Given the description of an element on the screen output the (x, y) to click on. 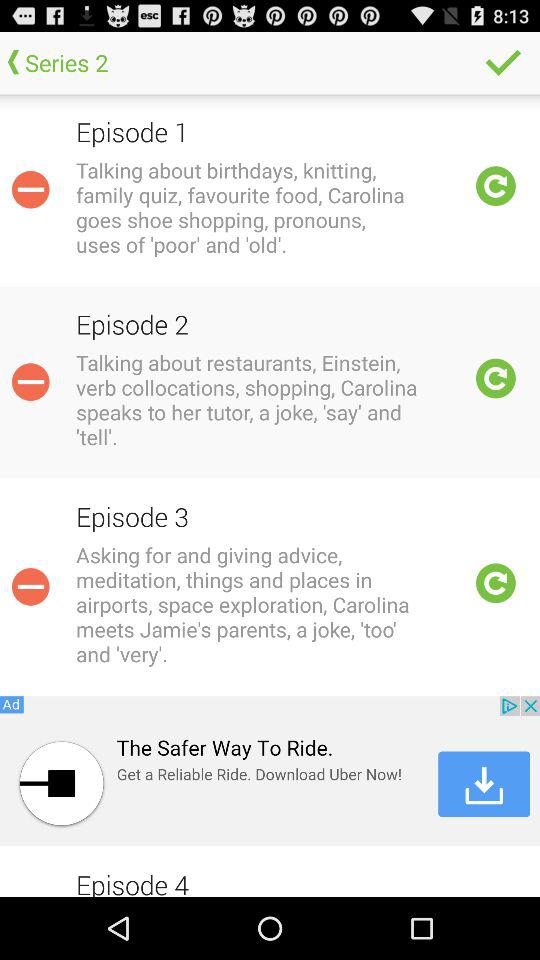
go to video (496, 378)
